Given the description of an element on the screen output the (x, y) to click on. 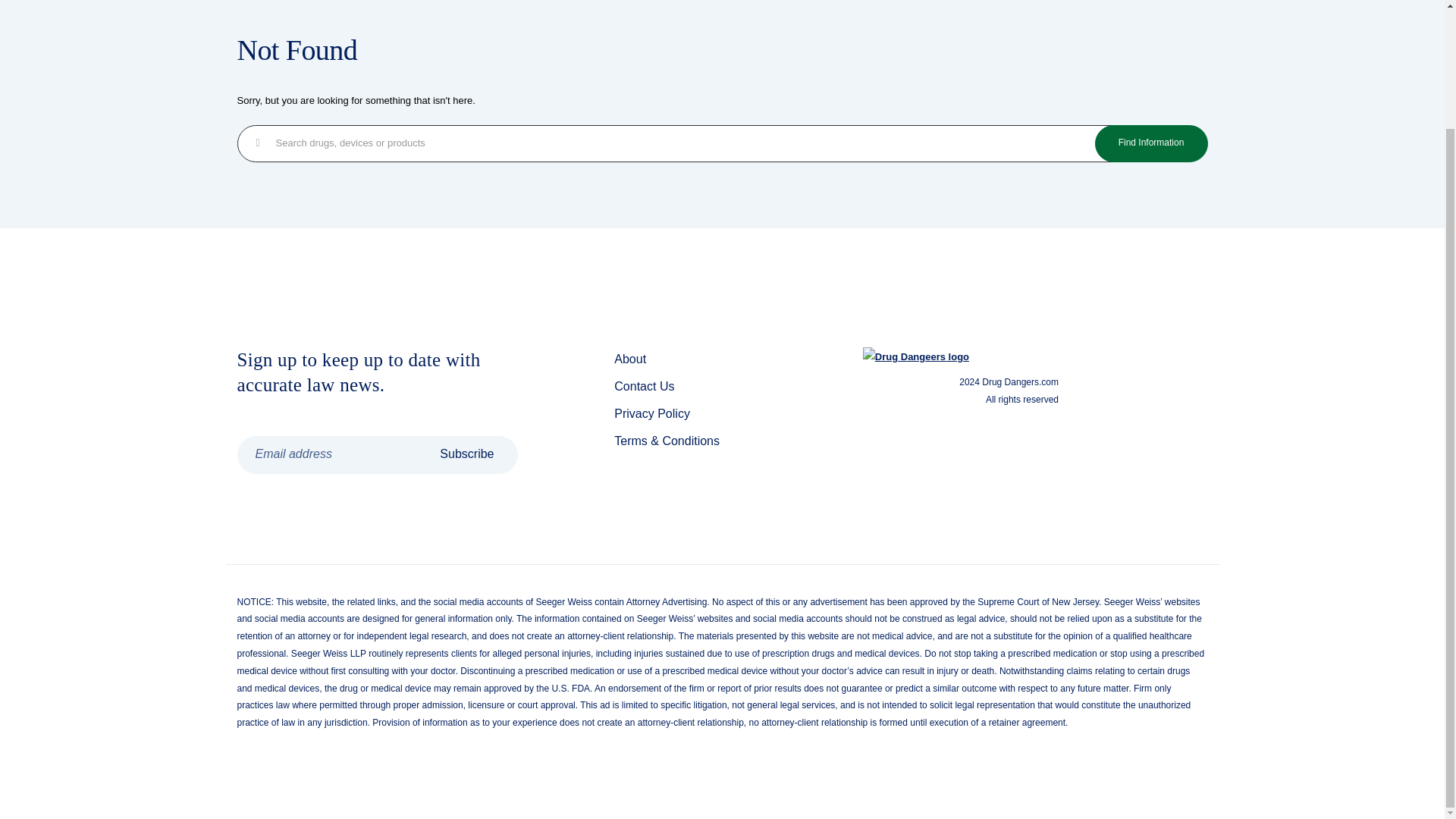
Contact Us (644, 386)
Find Information (1151, 143)
About (630, 358)
Subscribe (466, 454)
Privacy Policy (652, 413)
